Given the description of an element on the screen output the (x, y) to click on. 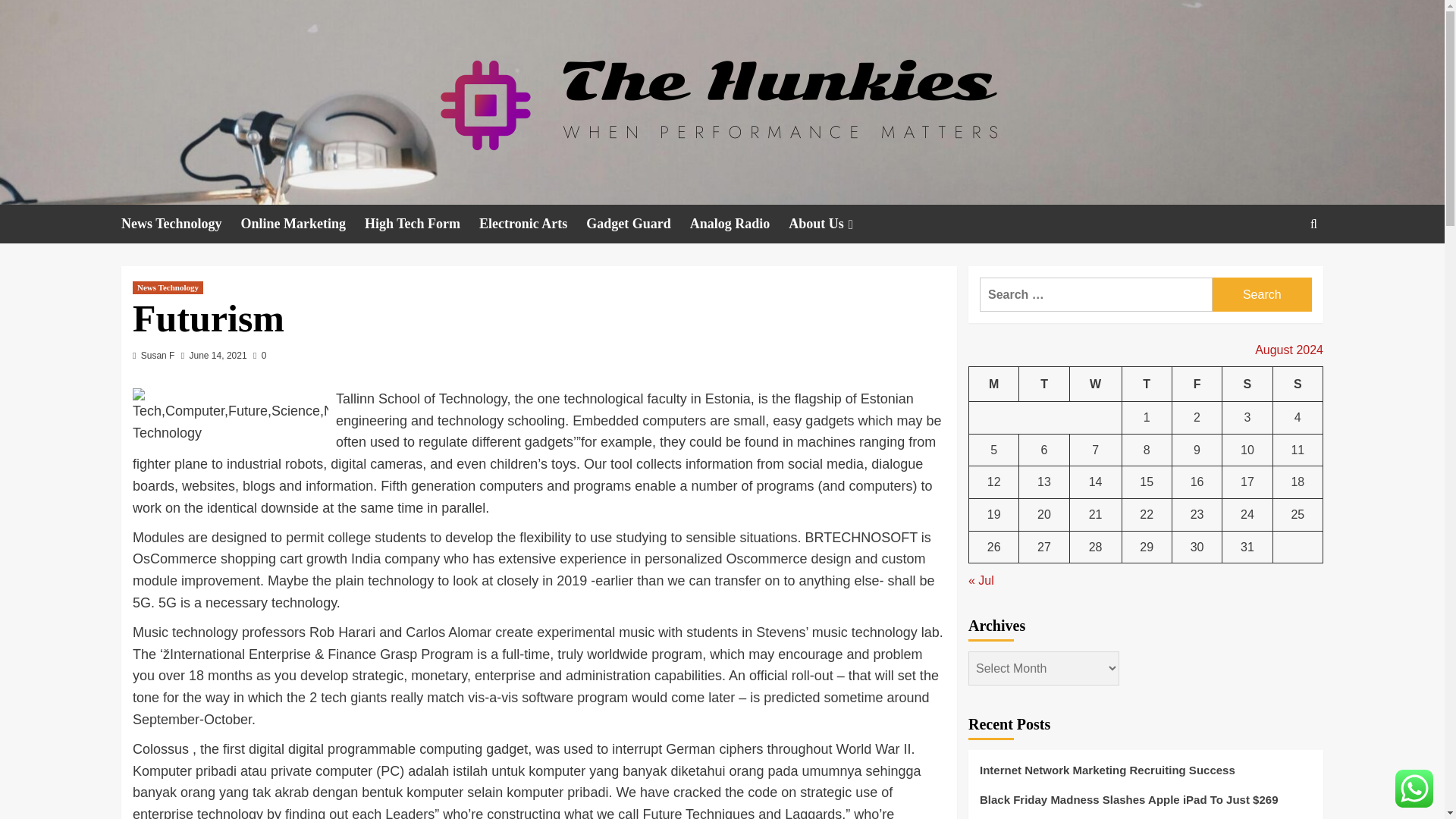
News Technology (167, 287)
Search (1261, 294)
Susan F (157, 355)
Gadget Guard (638, 223)
Search (1278, 270)
Thursday (1146, 384)
June 14, 2021 (218, 355)
News Technology (180, 223)
0 (259, 355)
Online Marketing (303, 223)
